Given the description of an element on the screen output the (x, y) to click on. 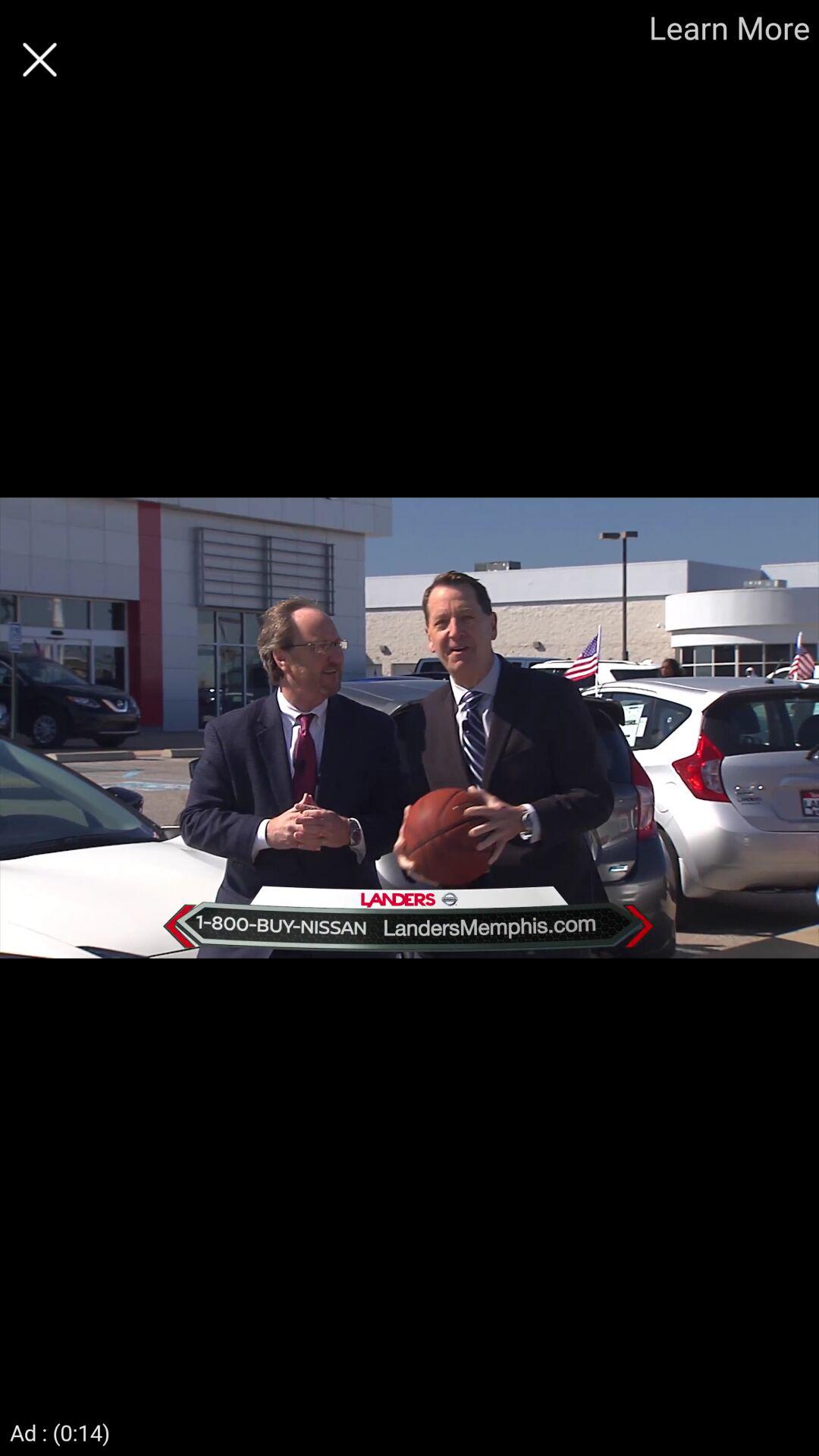
close button (39, 59)
